Given the description of an element on the screen output the (x, y) to click on. 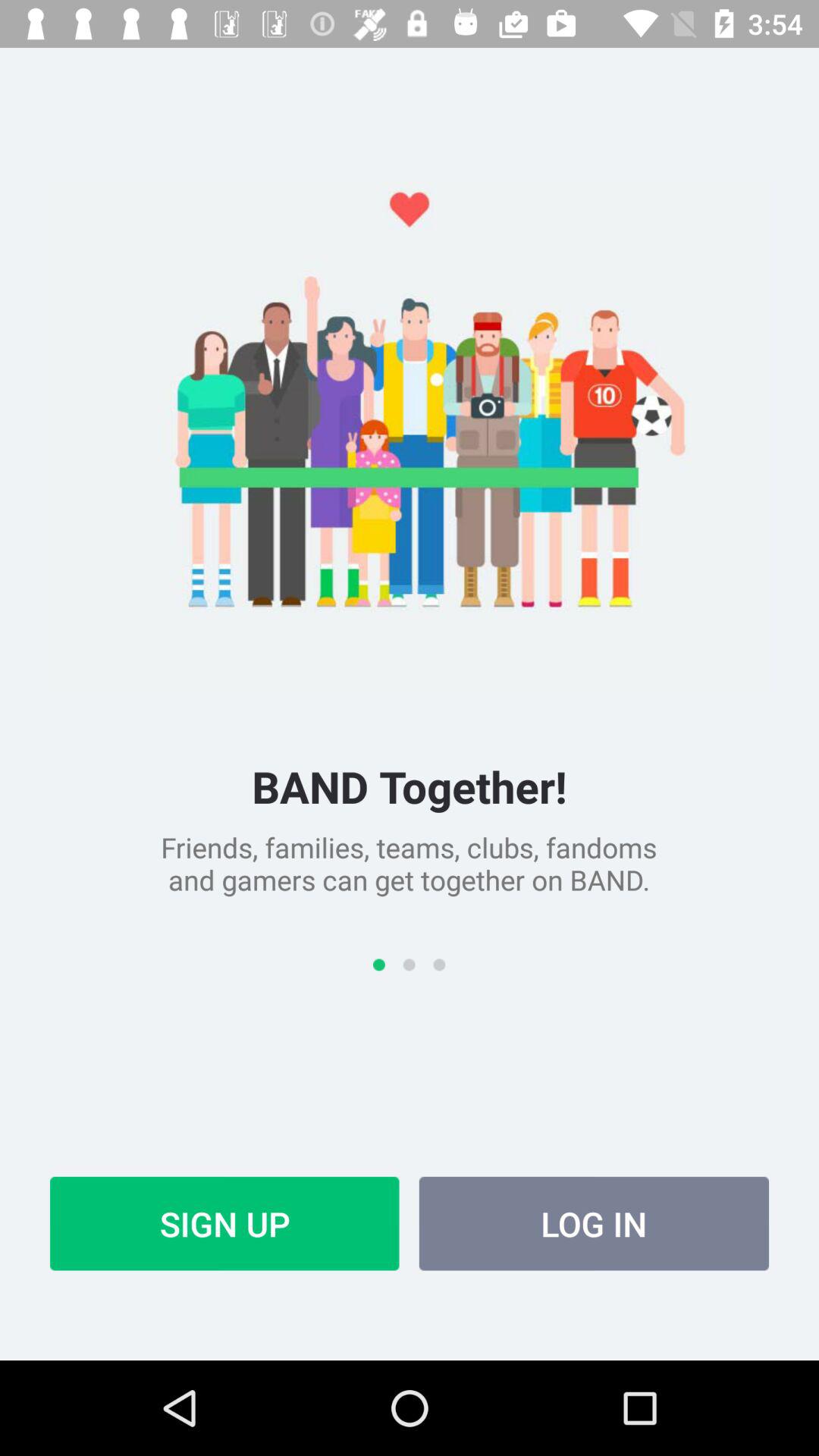
choose log in icon (593, 1223)
